Given the description of an element on the screen output the (x, y) to click on. 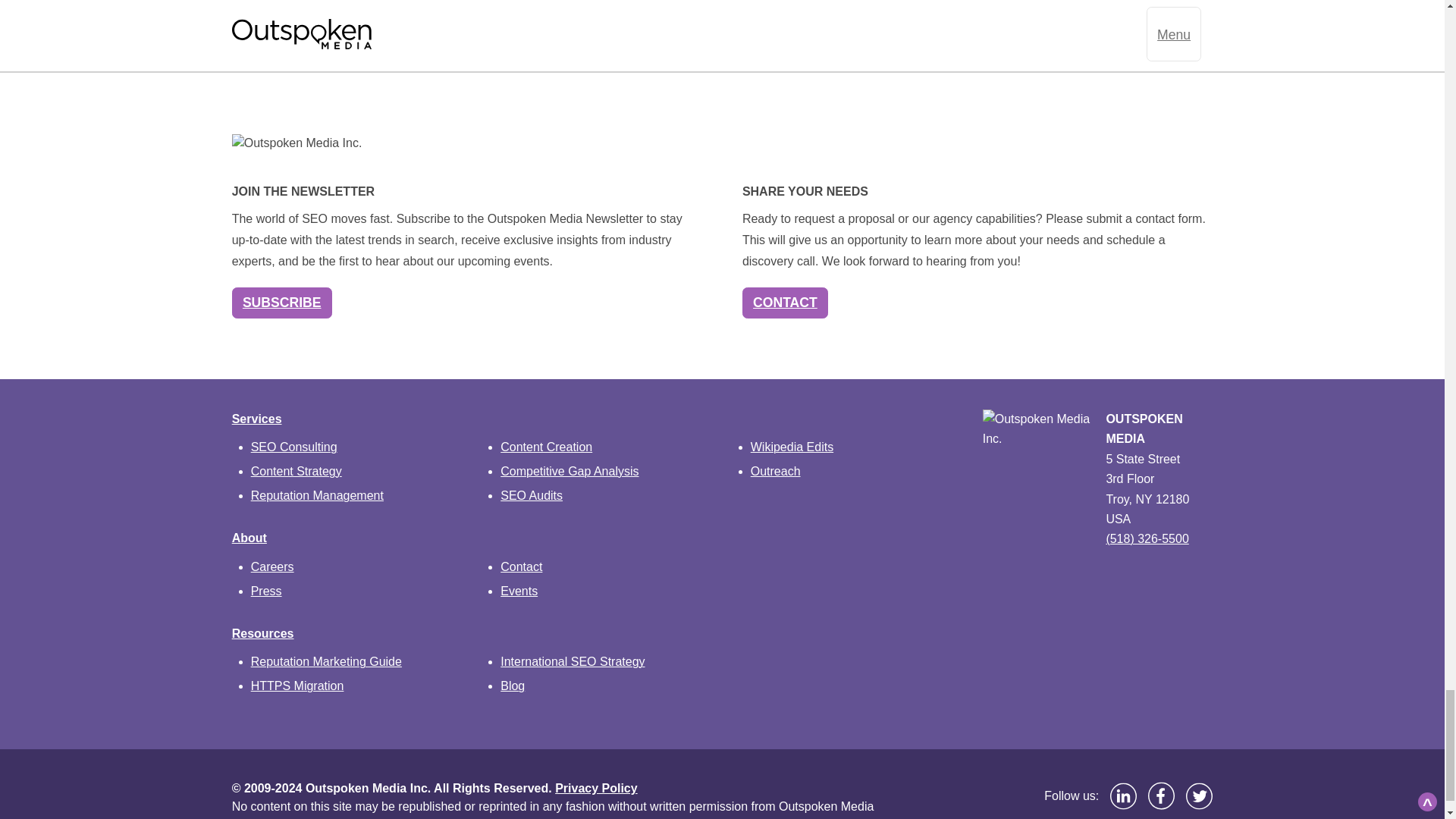
Follow Outpoken Media on Facebook (1161, 794)
Follow Outpoken Media on Twitter (1199, 795)
Follow Outspoken Media on LinkedIn (1123, 795)
